Given the description of an element on the screen output the (x, y) to click on. 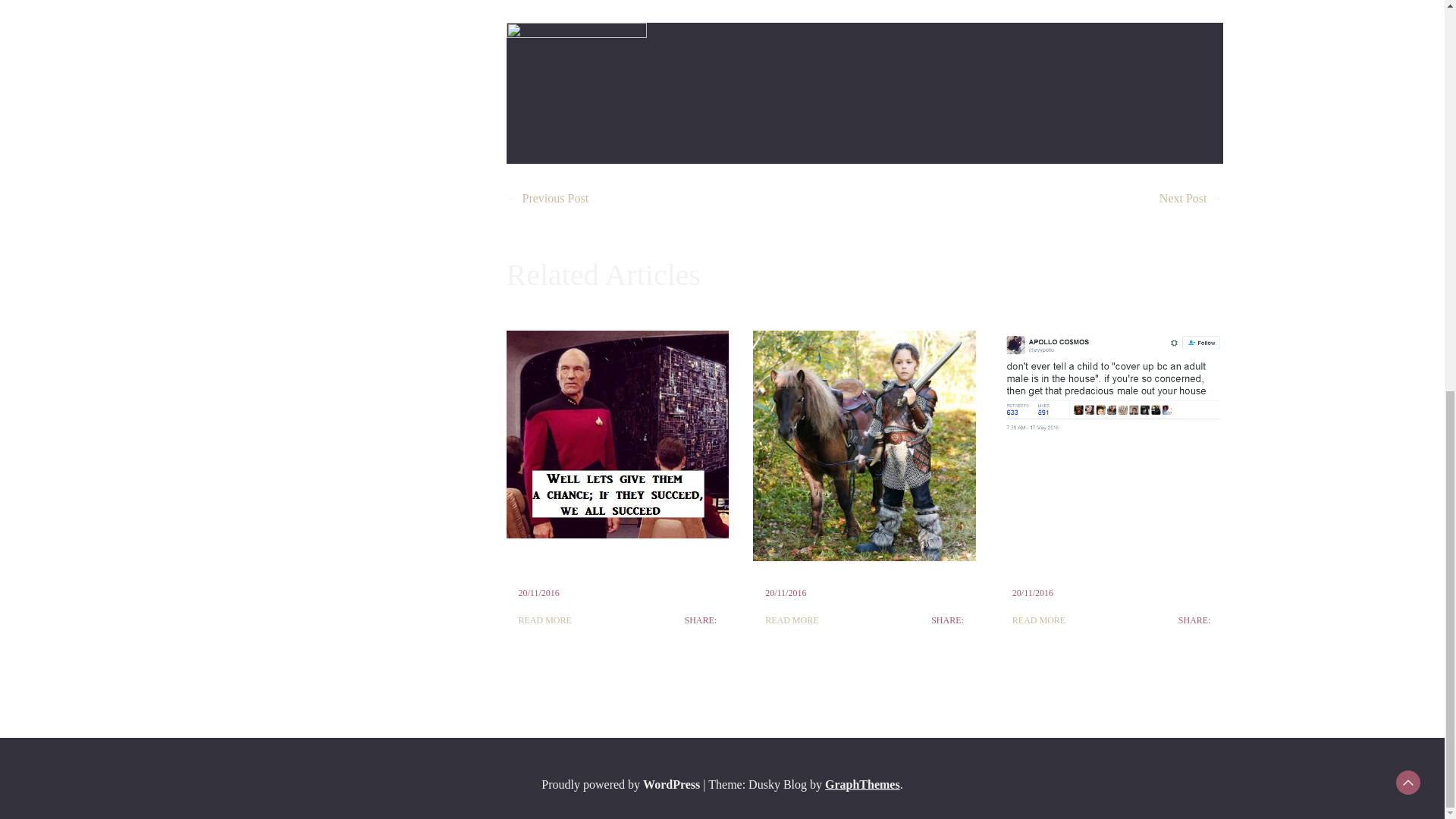
READ MORE (791, 620)
Proudly powered by WordPress (622, 784)
Next Post (1182, 197)
Previous Post (554, 197)
READ MORE (545, 620)
READ MORE (1038, 620)
GraphThemes (862, 784)
